Given the description of an element on the screen output the (x, y) to click on. 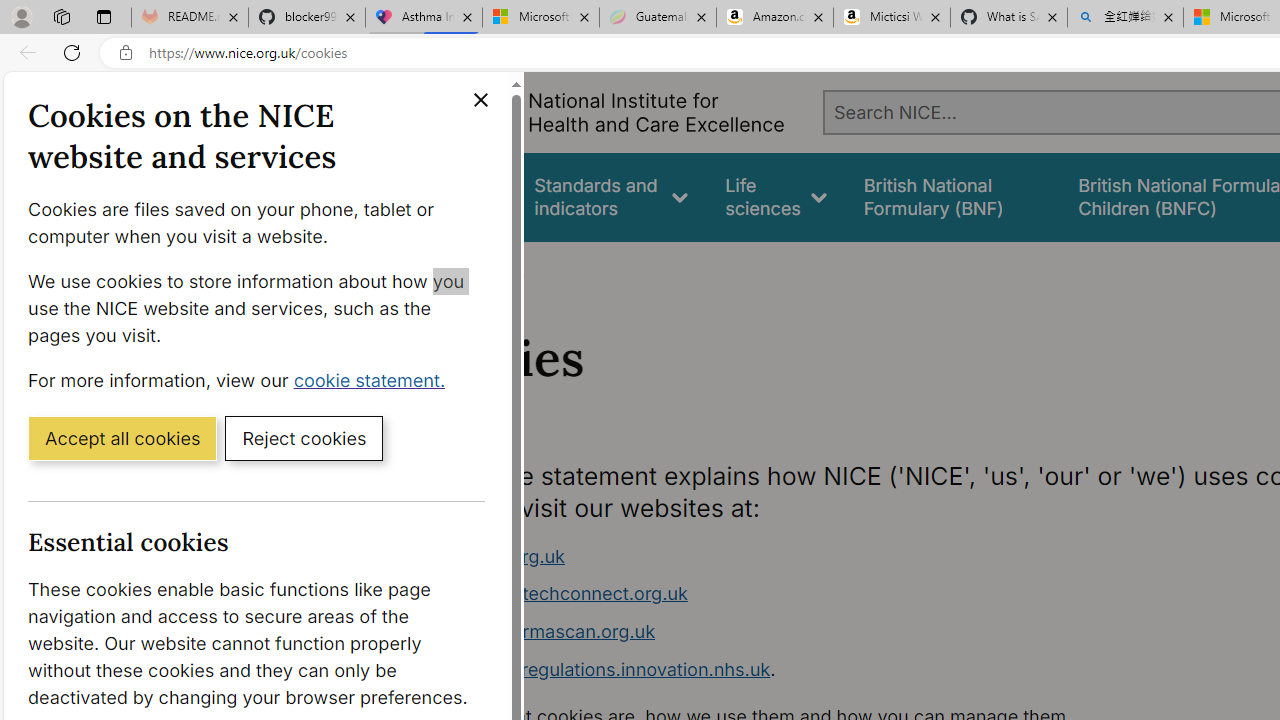
www.healthtechconnect.org.uk (554, 593)
www.nice.org.uk (796, 556)
cookie statement. (Opens in a new window) (373, 379)
false (952, 196)
Accept all cookies (122, 437)
Microsoft-Report a Concern to Bing (540, 17)
www.ukpharmascan.org.uk (796, 632)
